Given the description of an element on the screen output the (x, y) to click on. 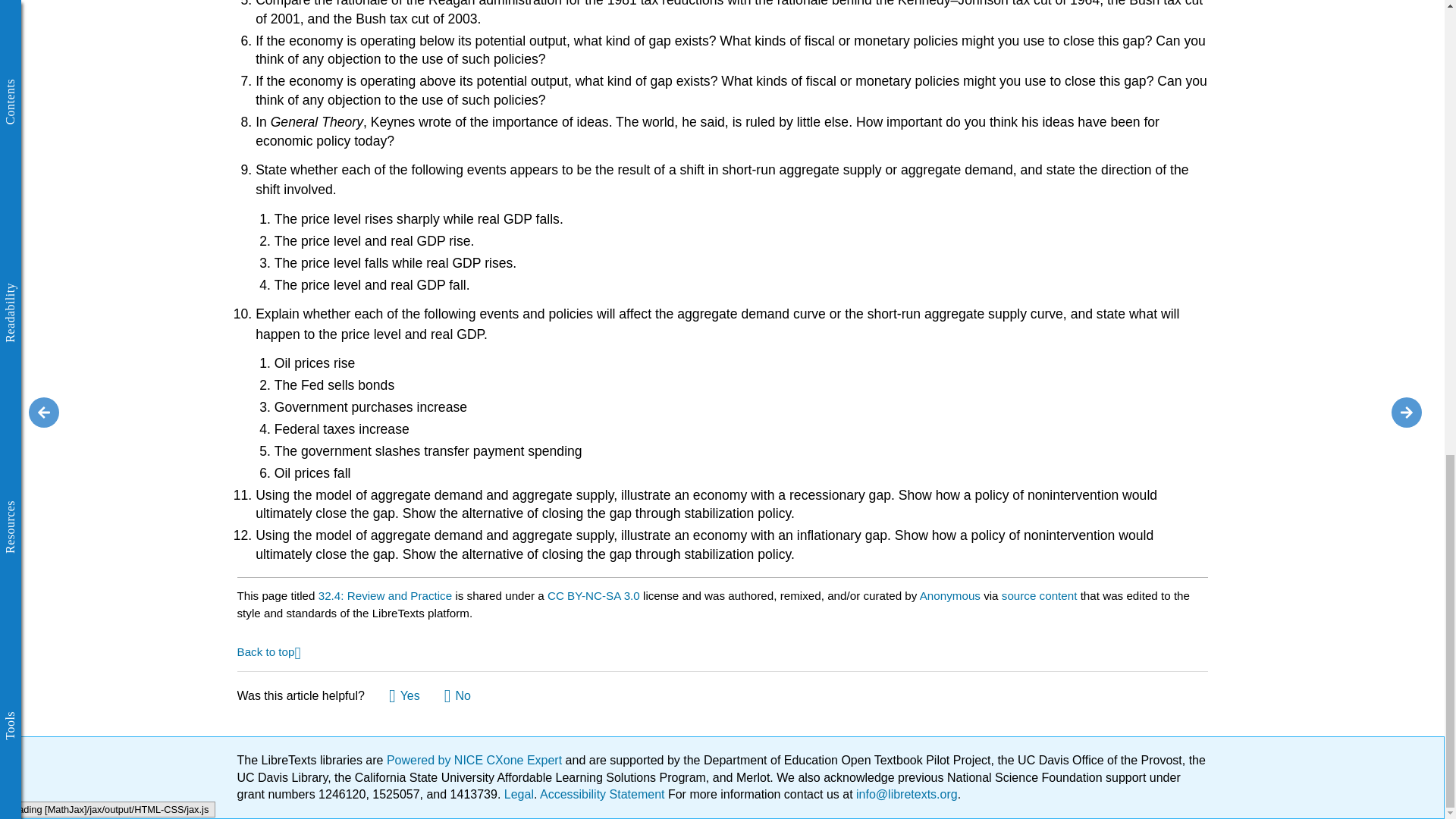
Jump back to top of this article (267, 651)
